Given the description of an element on the screen output the (x, y) to click on. 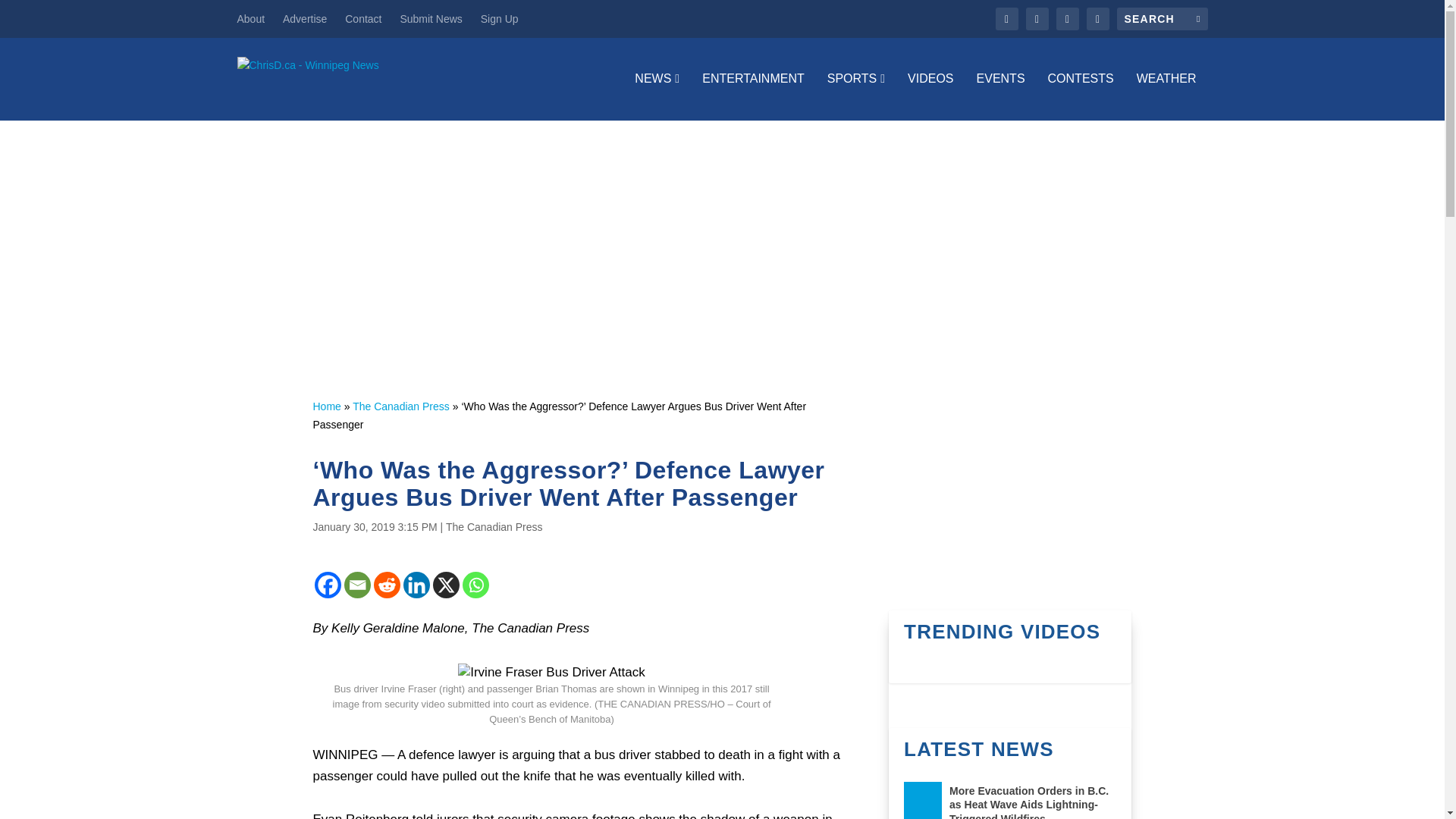
Sign Up (499, 18)
Contact (363, 18)
The Canadian Press (494, 526)
VIDEOS (930, 96)
Reddit (385, 584)
Home (326, 406)
X (445, 584)
Whatsapp (476, 584)
Advertise (304, 18)
Email (357, 584)
The Canadian Press (400, 406)
CONTESTS (1080, 96)
Facebook (327, 584)
SPORTS (856, 96)
